Given the description of an element on the screen output the (x, y) to click on. 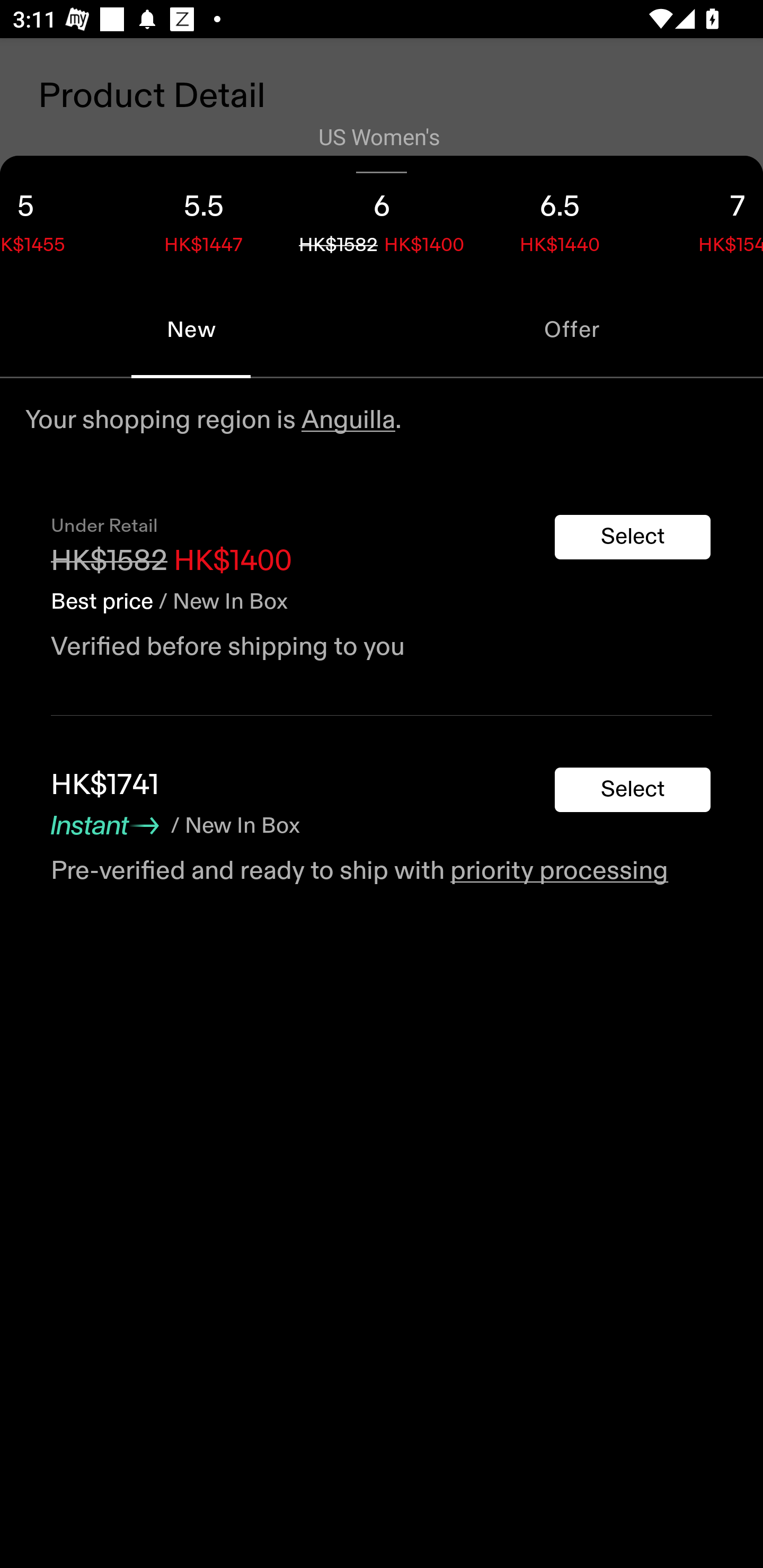
5 HK$1455 (57, 218)
5.5 HK$1447 (203, 218)
6 HK$1582 HK$1400 (381, 218)
6.5 HK$1440 (559, 218)
7 HK$1542 (705, 218)
Offer (572, 329)
Select (632, 536)
Sell (152, 606)
HK$1741 (104, 785)
Select (632, 789)
